Given the description of an element on the screen output the (x, y) to click on. 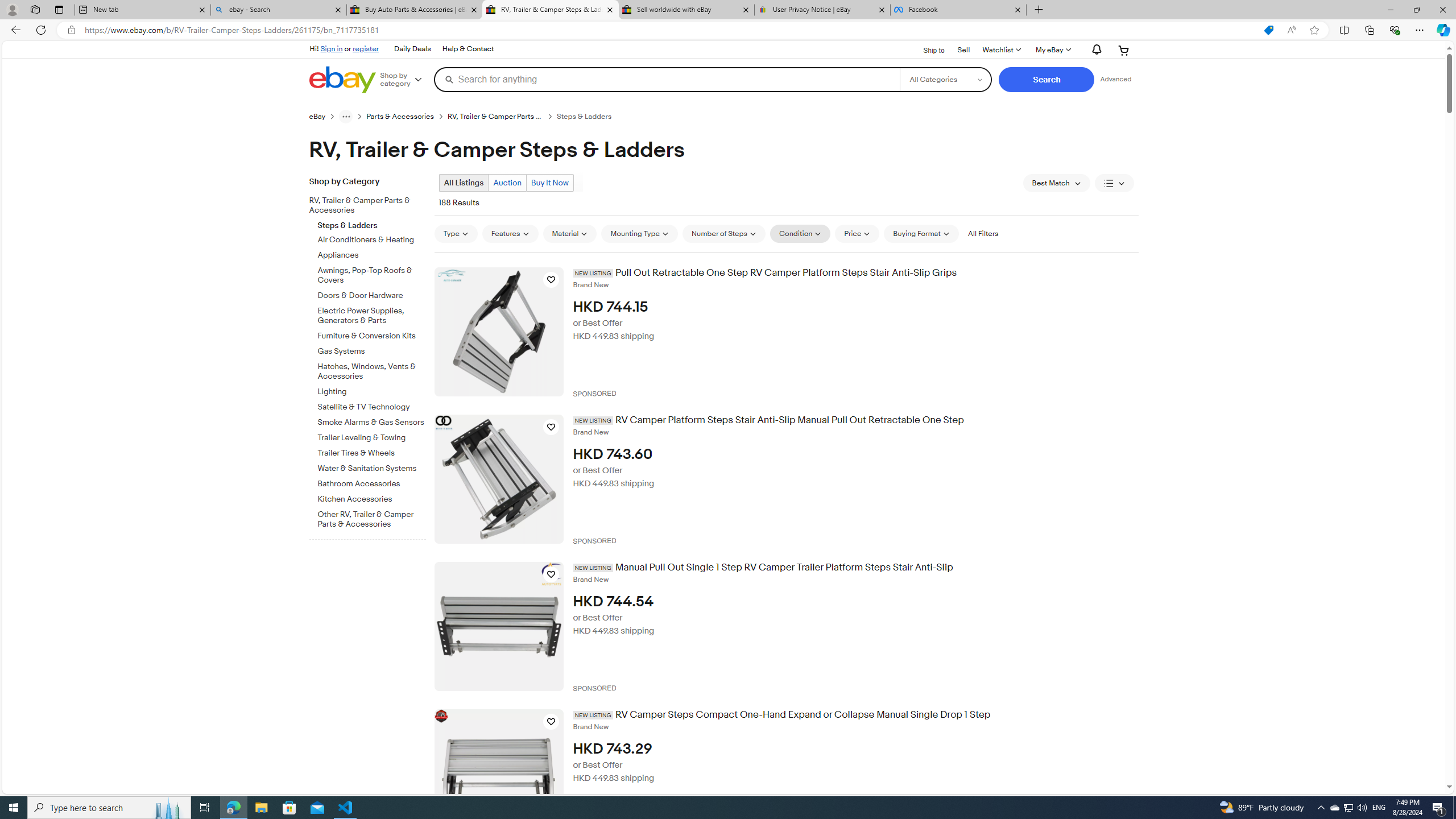
Condition (800, 233)
Number of Steps (723, 233)
Furniture & Conversion Kits (371, 333)
Daily Deals (411, 49)
Other RV, Trailer & Camper Parts & Accessories (371, 519)
This site has coupons! Shopping in Microsoft Edge (1268, 29)
breadcrumb menu (346, 116)
Parts & Accessories (399, 116)
Hatches, Windows, Vents & Accessories (371, 369)
eBay Home (341, 79)
eBay (323, 116)
